Given the description of an element on the screen output the (x, y) to click on. 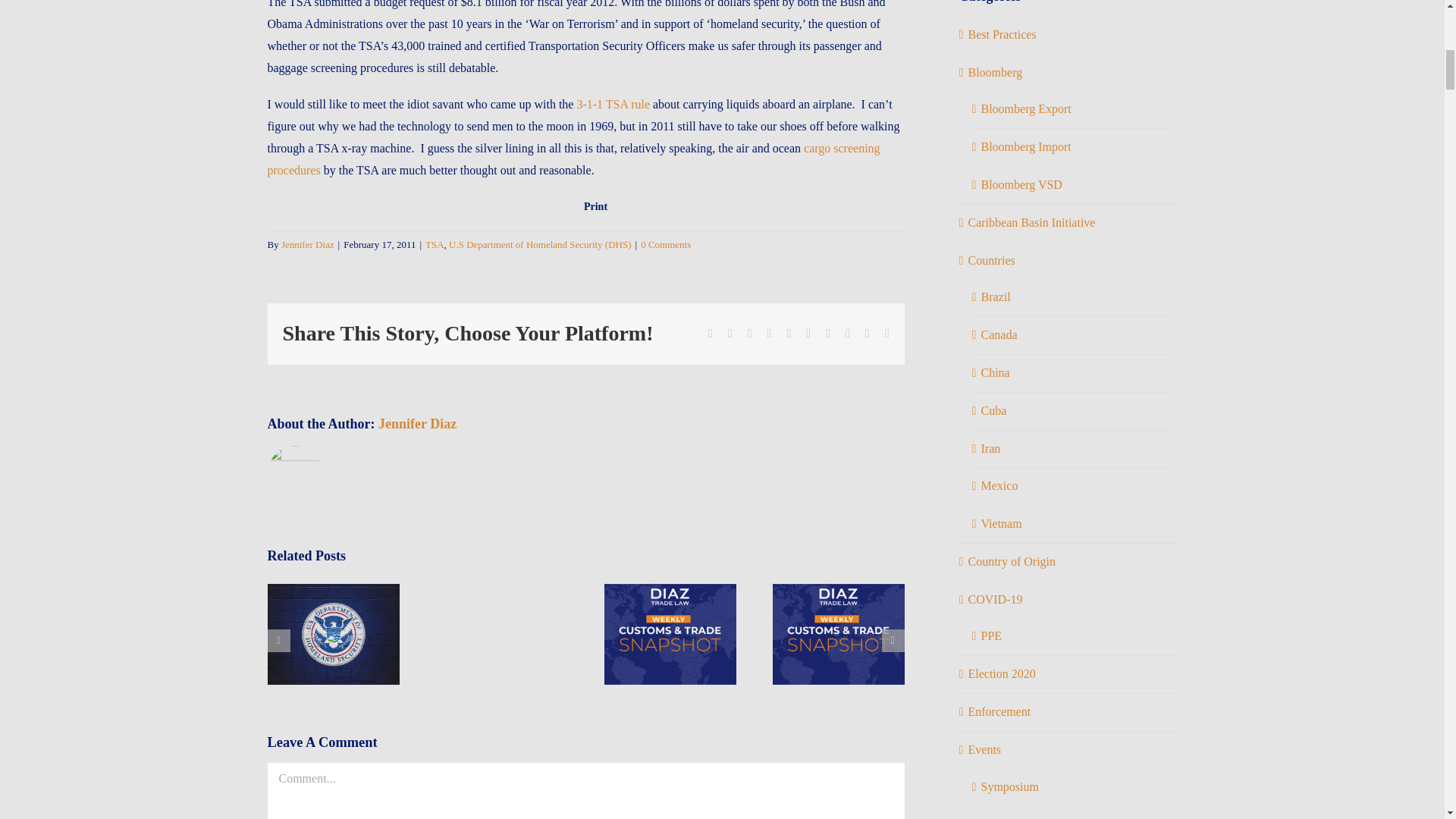
Posts by Jennifer Diaz (307, 244)
